Given the description of an element on the screen output the (x, y) to click on. 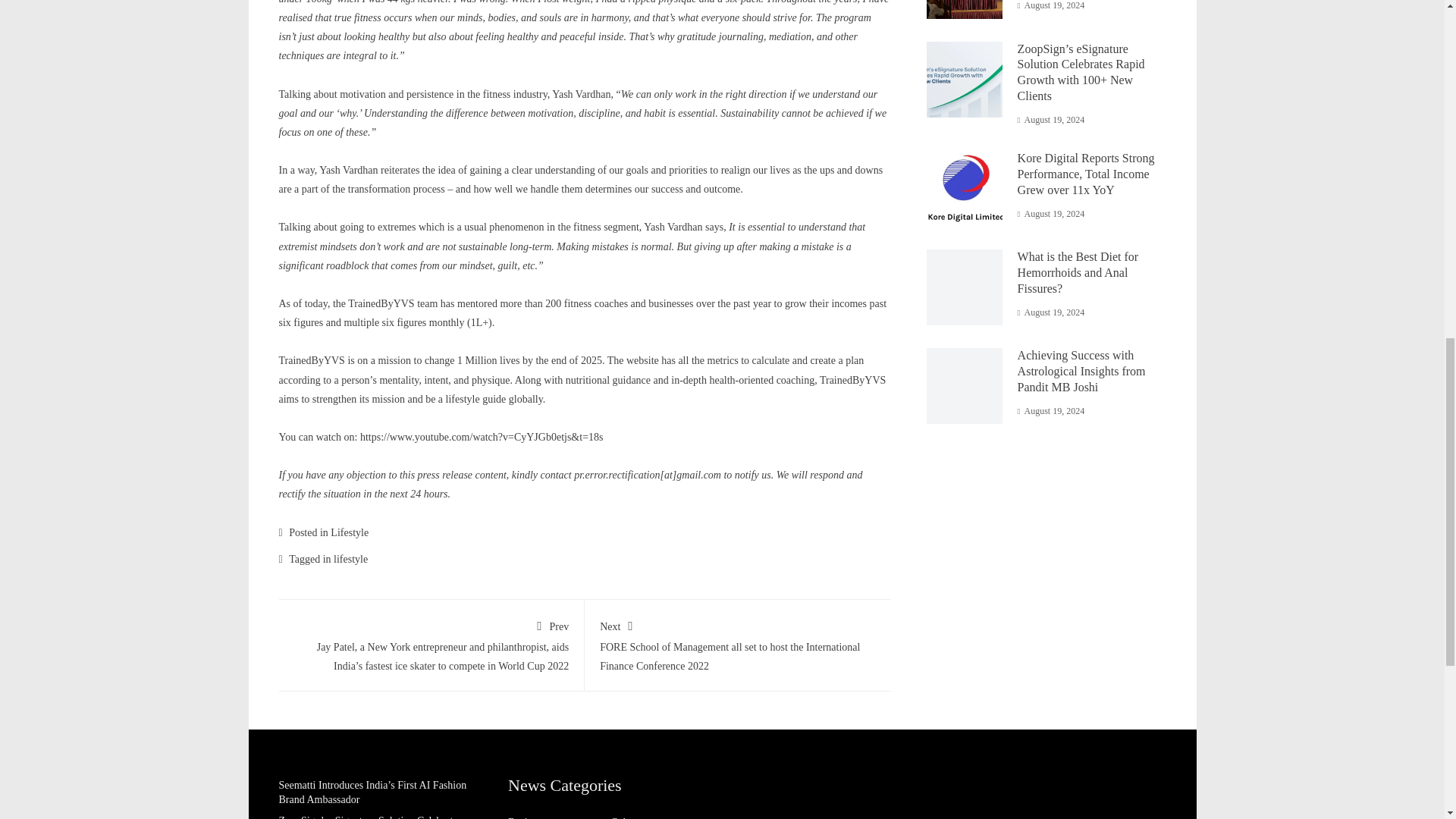
Lifestyle (349, 531)
What is the Best Diet for Hemorrhoids and Anal Fissures? (1077, 272)
lifestyle (350, 559)
